Given the description of an element on the screen output the (x, y) to click on. 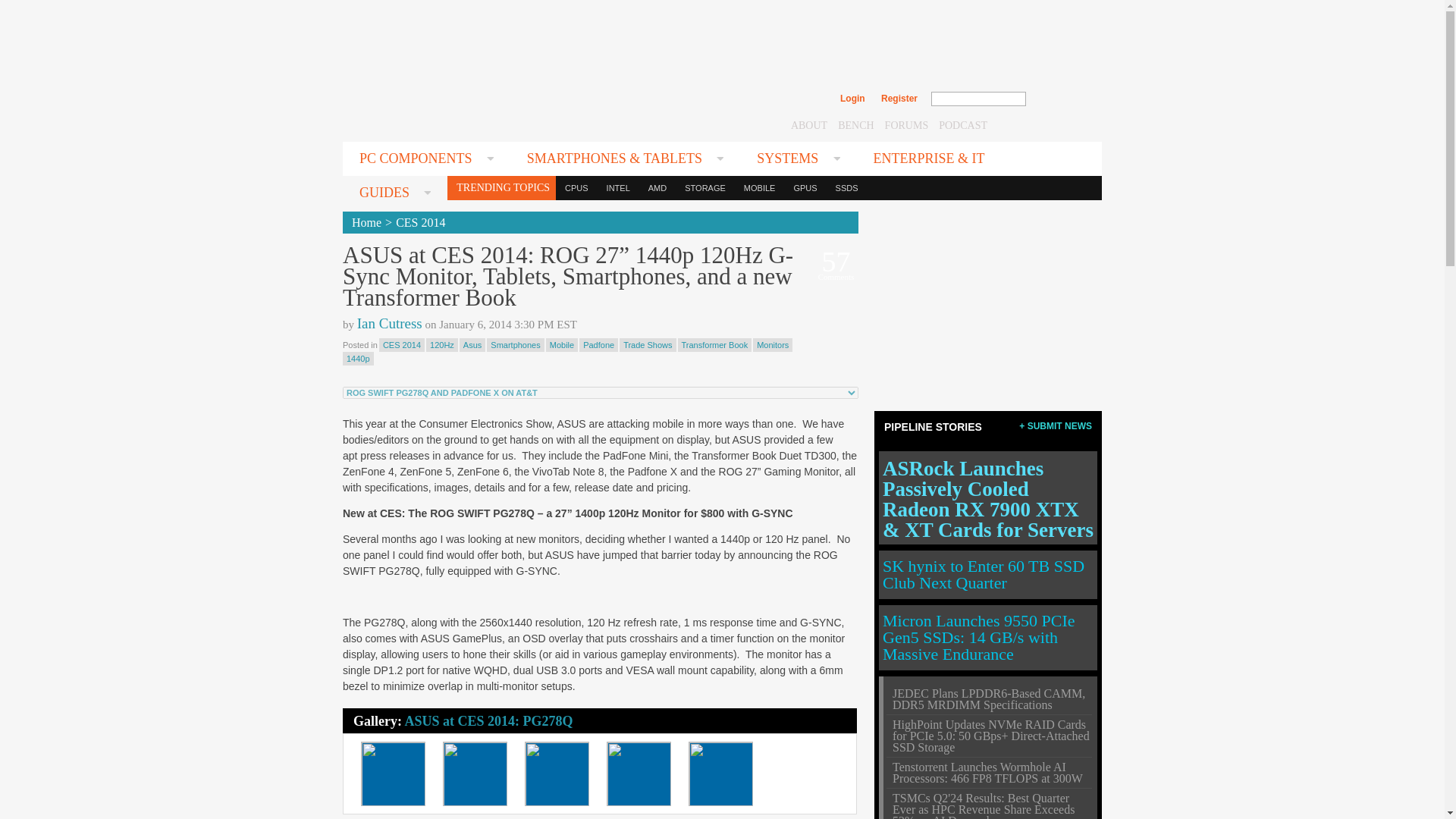
search (1059, 98)
BENCH (855, 125)
search (1059, 98)
ABOUT (808, 125)
FORUMS (906, 125)
PODCAST (963, 125)
Register (898, 98)
Login (852, 98)
search (1059, 98)
